Given the description of an element on the screen output the (x, y) to click on. 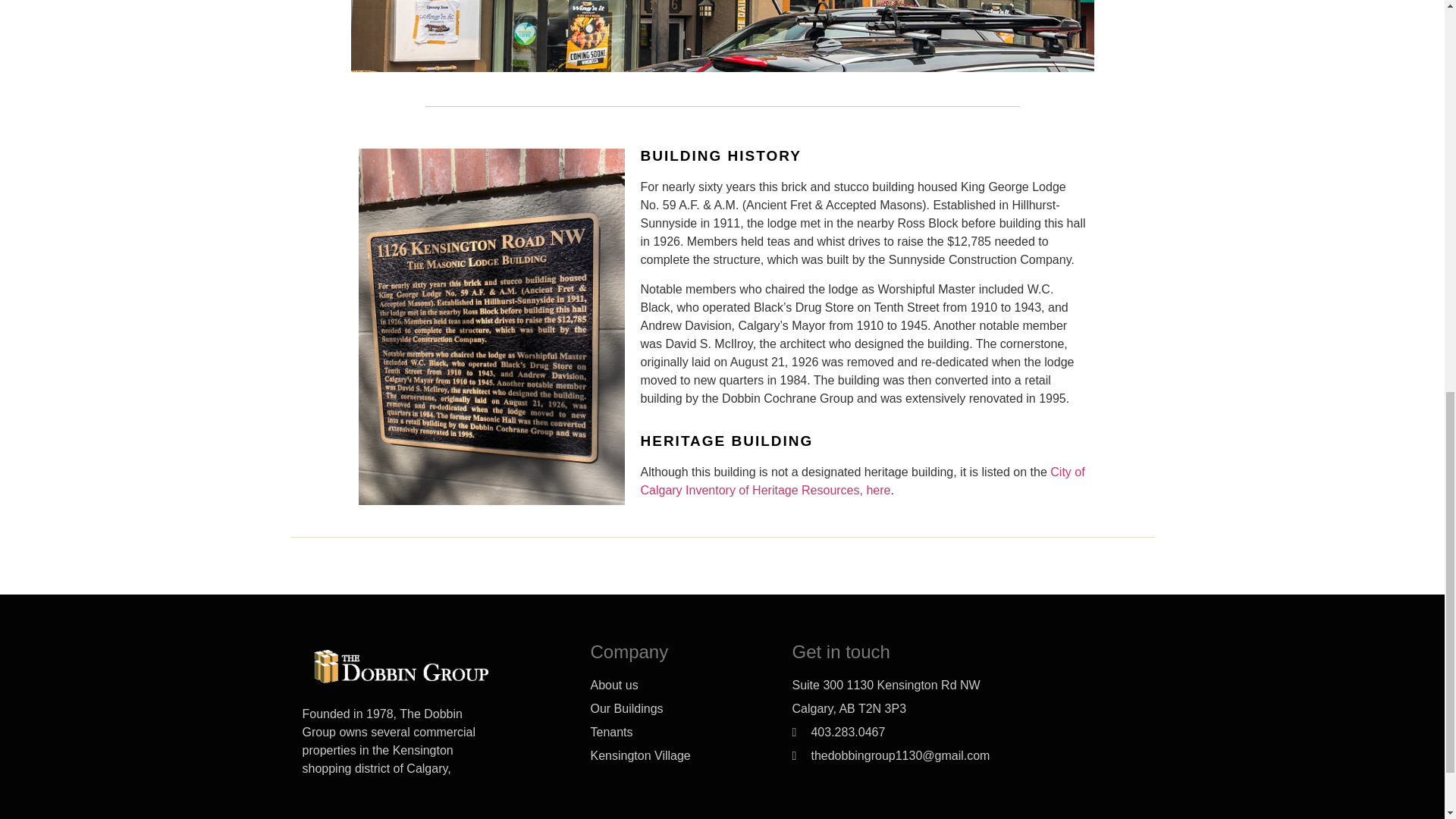
City of Calgary Inventory of Heritage Resources, here (864, 481)
Tenants (678, 732)
masonic-lodge (721, 36)
Our Buildings (678, 709)
About us (678, 685)
